Given the description of an element on the screen output the (x, y) to click on. 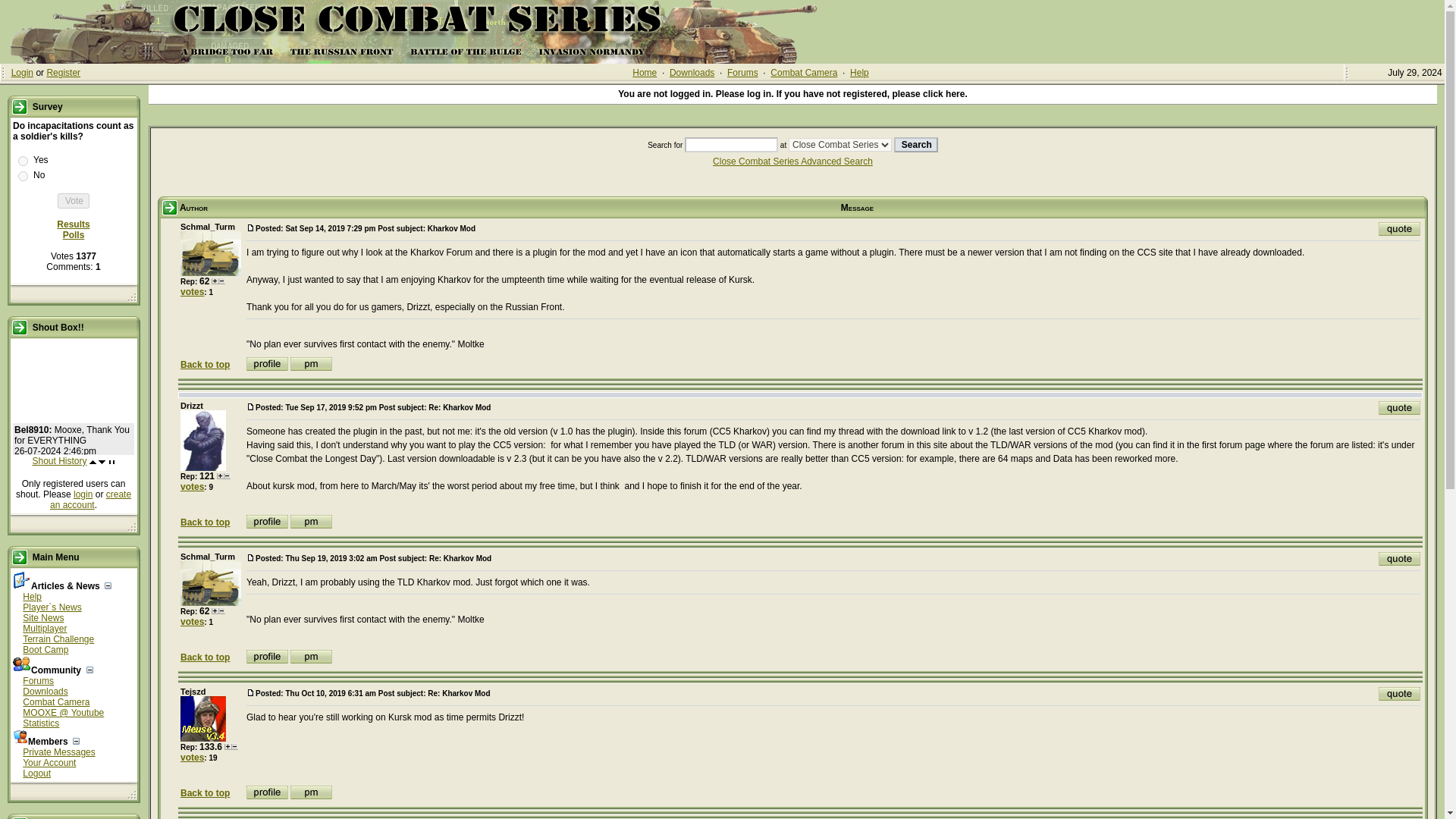
View user's profile (267, 656)
Boot Camp (45, 649)
View user's profile (267, 364)
Downloads (44, 691)
2 (22, 175)
View user's profile (267, 792)
Vote (73, 200)
Statistics (41, 723)
Forums (742, 72)
Combat Camera (803, 72)
create an account (90, 499)
Login (22, 72)
Results (72, 224)
Reply with quote (1399, 407)
Home (643, 72)
